Given the description of an element on the screen output the (x, y) to click on. 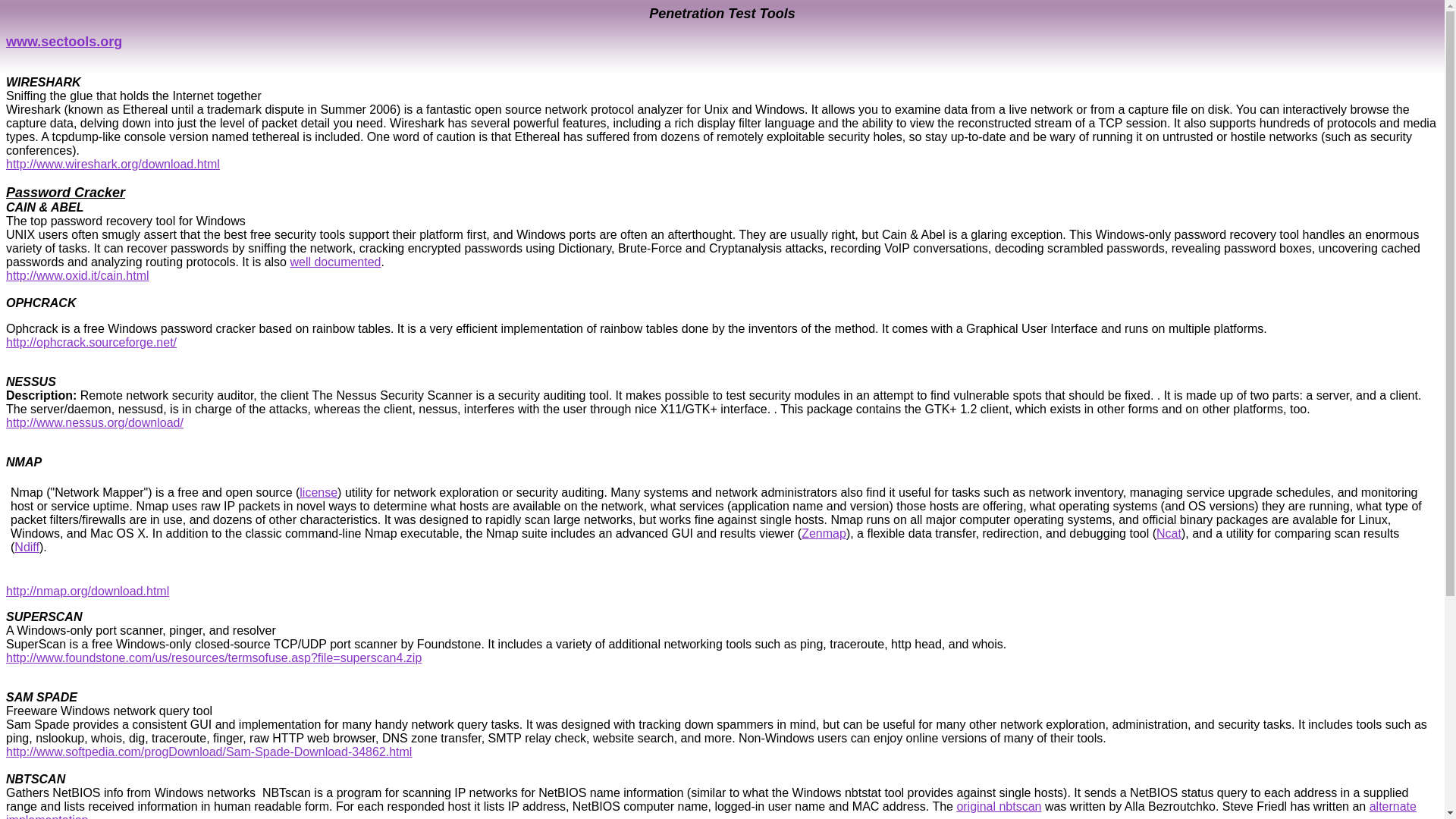
original nbtscan (998, 806)
license (318, 492)
Zenmap (823, 533)
Ncat (1168, 533)
Ndiff (26, 546)
well documented (334, 261)
www.sectools.org (63, 41)
alternate implementation (710, 809)
